Given the description of an element on the screen output the (x, y) to click on. 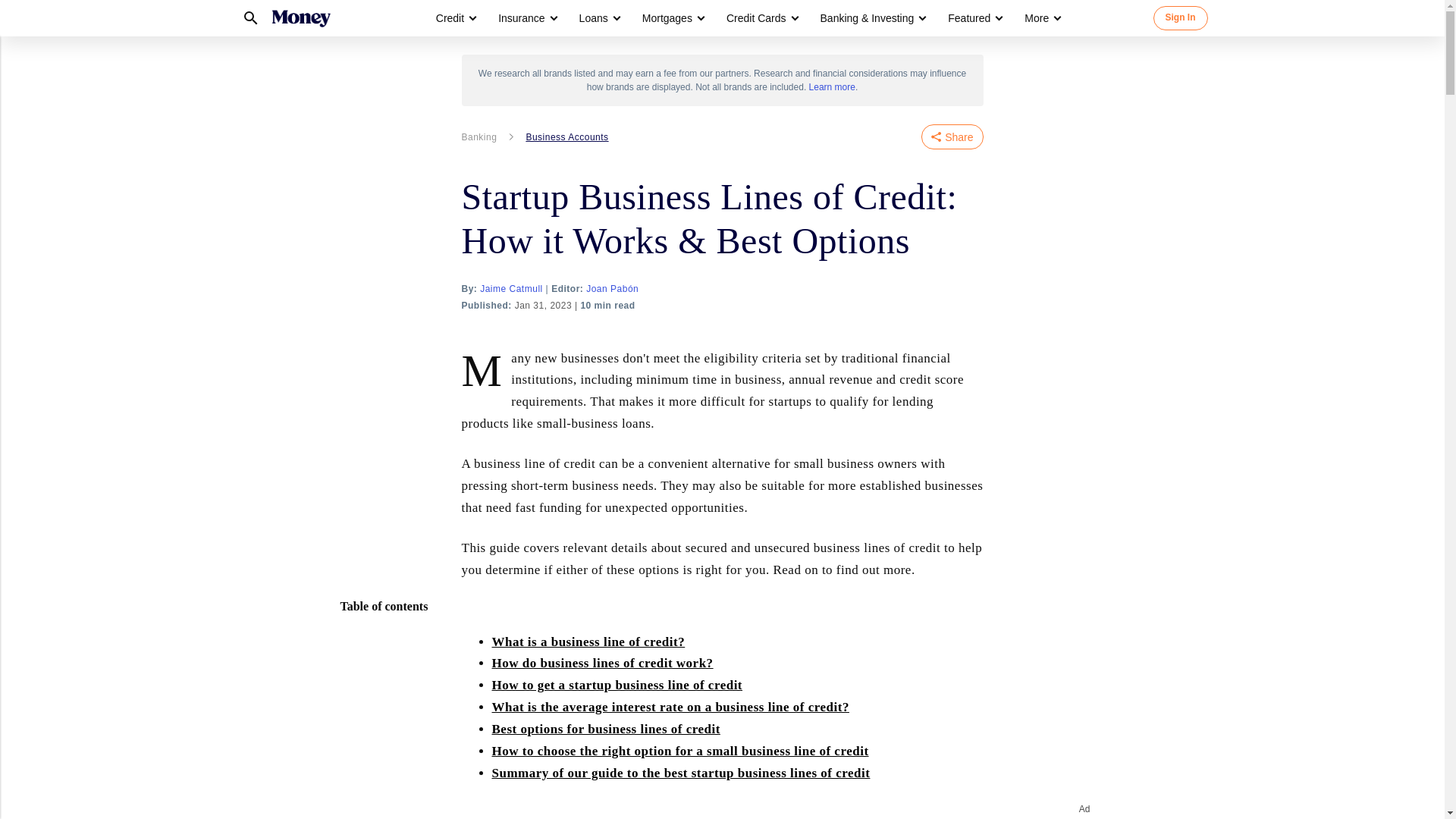
Credit (449, 18)
Mortgages (667, 18)
Credit Cards (756, 18)
Credit Cards (761, 18)
Loans (593, 18)
Insurance (526, 18)
Credit (455, 18)
Loans (598, 18)
Mortgages (672, 18)
Insurance (520, 18)
